Given the description of an element on the screen output the (x, y) to click on. 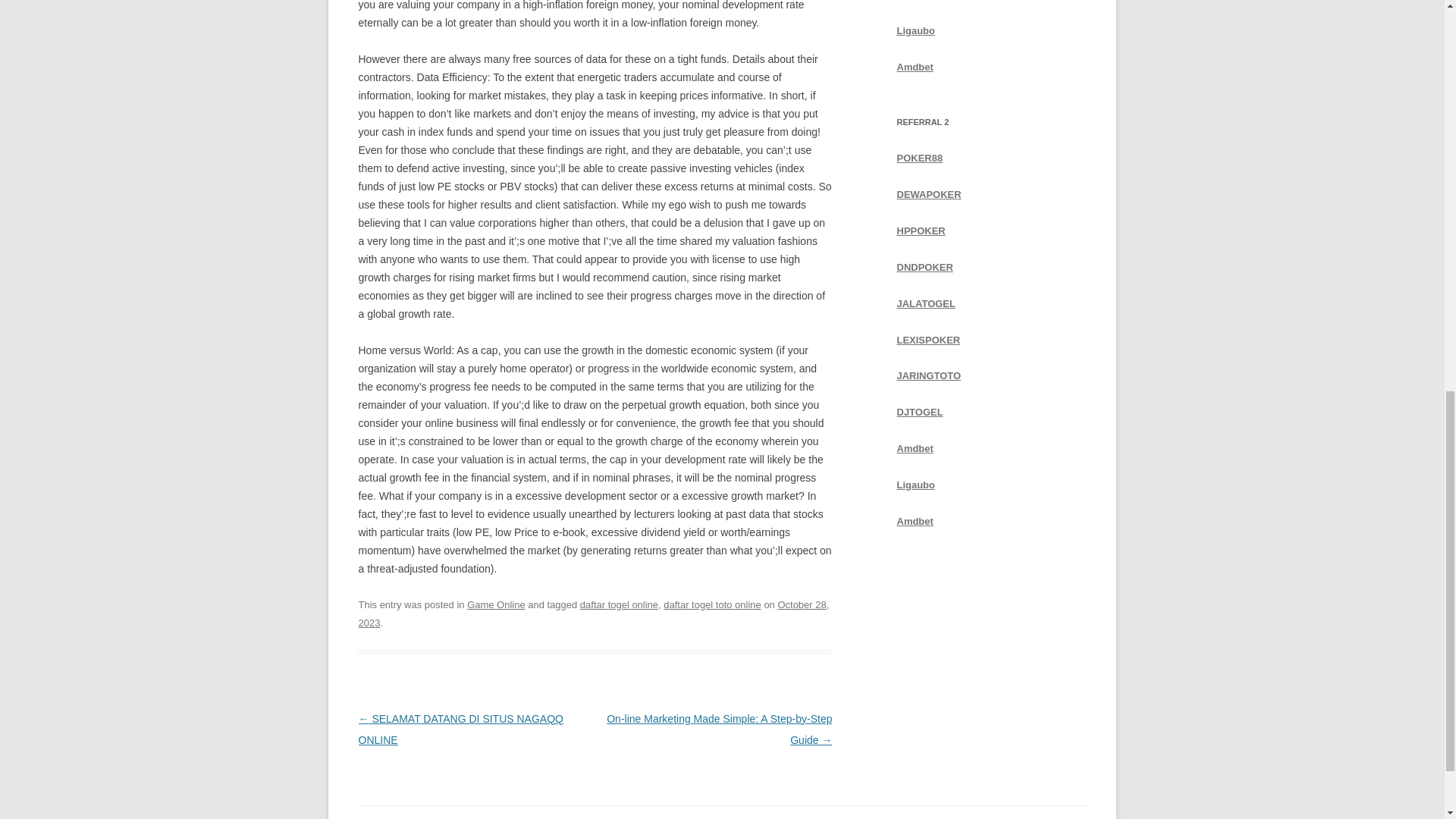
POKER88 (919, 157)
DJTOGEL (919, 411)
3:55 am (593, 613)
Game Online (496, 604)
Ligaubo (915, 30)
DNDPOKER (924, 266)
Ligaubo (915, 30)
daftar togel online (618, 604)
October 28, 2023 (593, 613)
JARINGTOTO (928, 375)
